Given the description of an element on the screen output the (x, y) to click on. 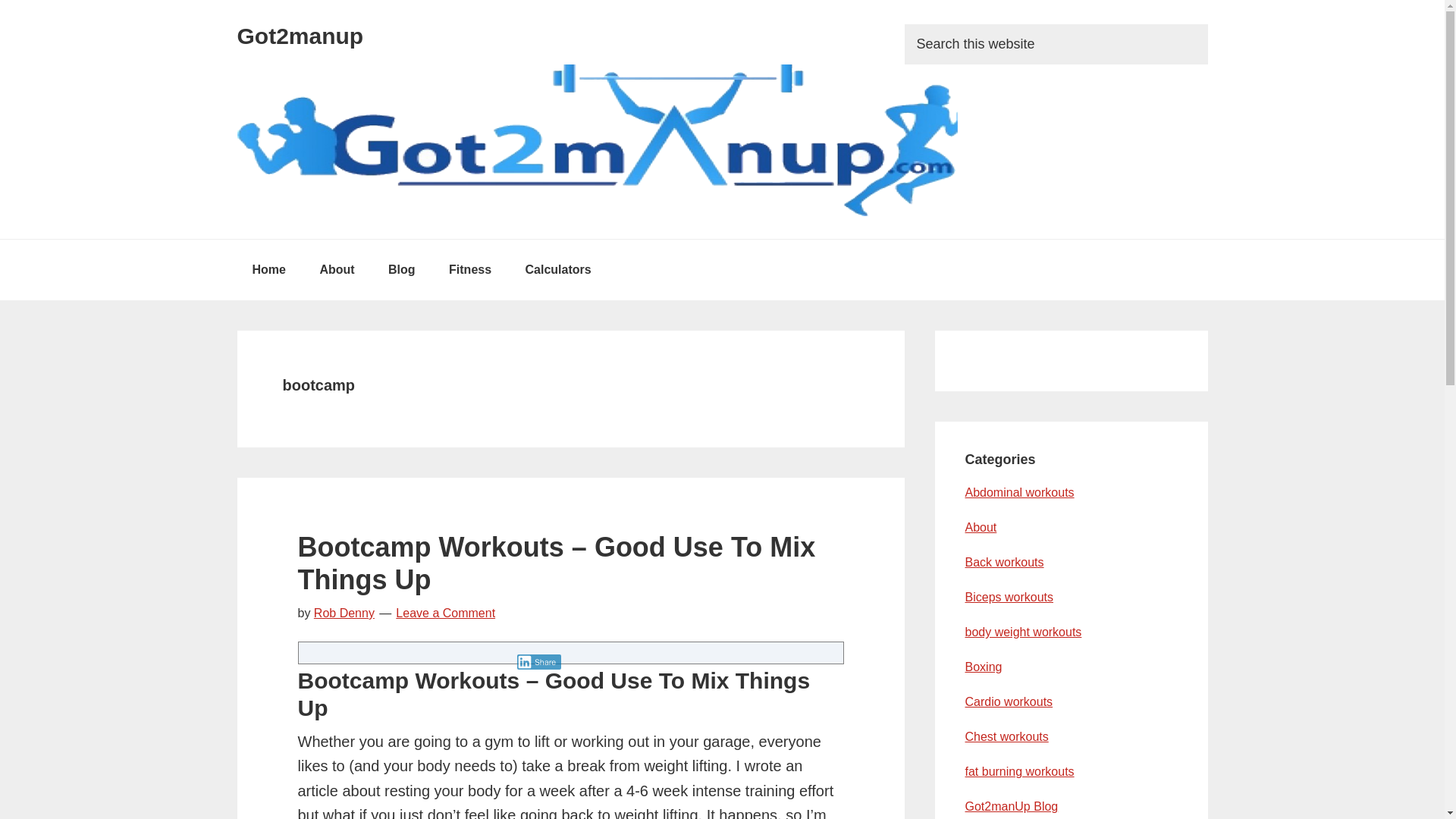
About (336, 269)
Calculators (559, 269)
Back workouts (1003, 562)
Got2manup (298, 35)
Fitness (469, 269)
Cardio workouts (1007, 701)
Rob Denny (344, 612)
Boxing (982, 666)
body weight workouts (1022, 631)
Biceps workouts (1007, 596)
Share (539, 661)
Chest workouts (1005, 736)
